Given the description of an element on the screen output the (x, y) to click on. 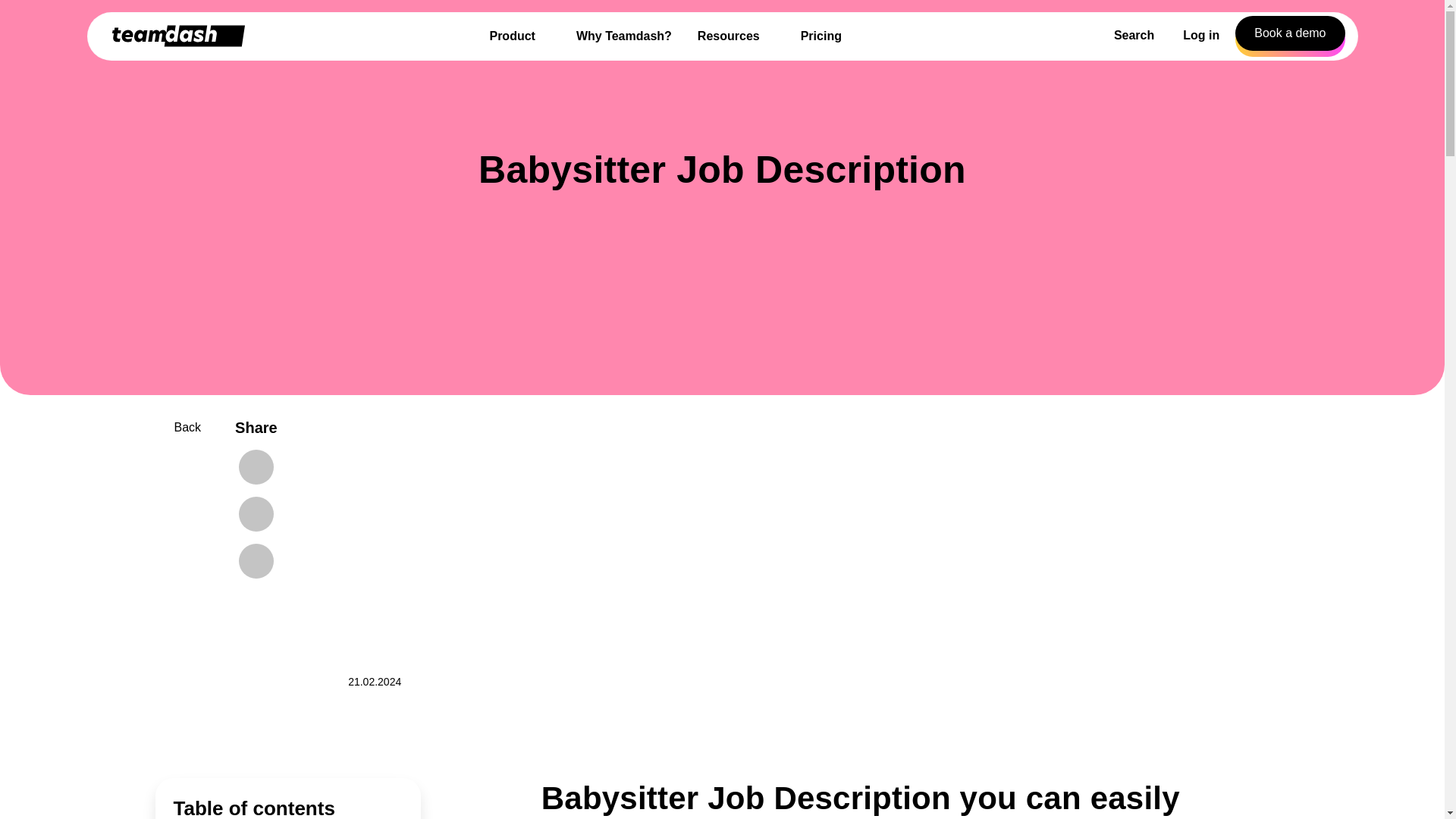
Submit (142, 449)
Product (170, 748)
Product (56, 631)
Use cases (60, 762)
